Given the description of an element on the screen output the (x, y) to click on. 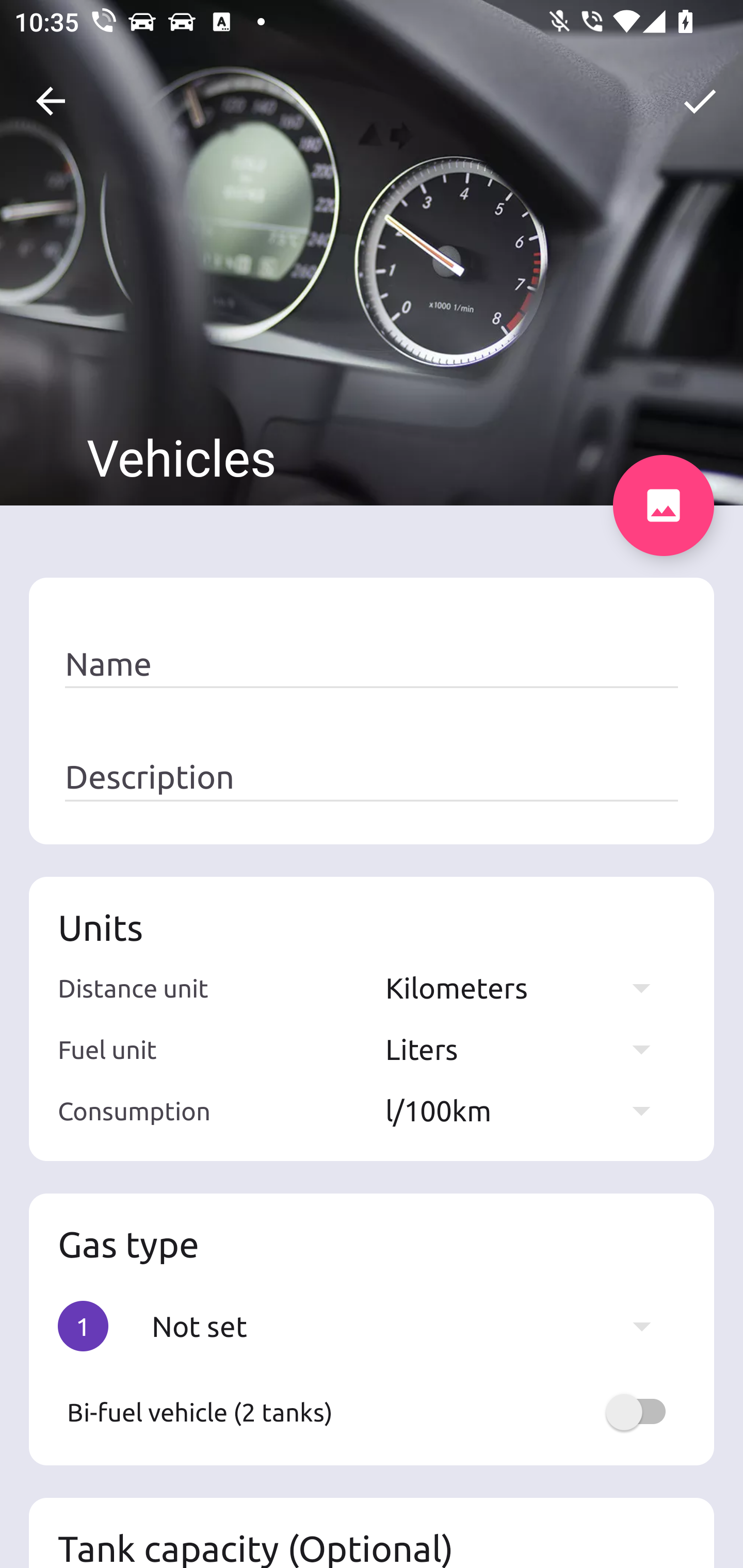
Navigate up (50, 101)
OK (699, 101)
Name (371, 664)
Description (371, 777)
Kilometers (527, 987)
Liters (527, 1048)
l/100km (527, 1110)
Not set (411, 1325)
Bi-fuel vehicle (2 tanks) (371, 1411)
